Given the description of an element on the screen output the (x, y) to click on. 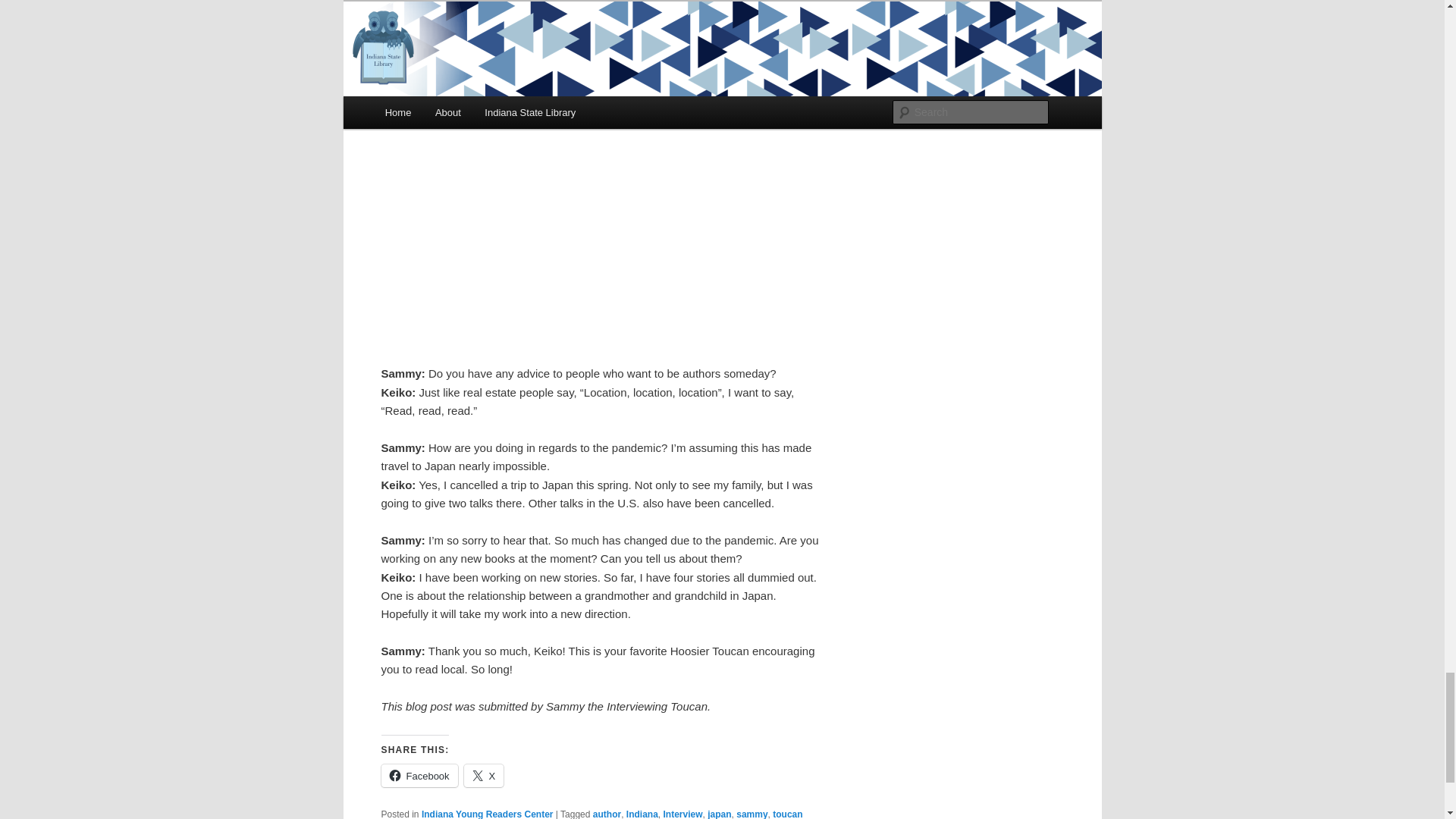
Click to share on Facebook (418, 775)
Indiana (642, 814)
japan (718, 814)
author (606, 814)
Interview (681, 814)
X (483, 775)
Facebook (418, 775)
Click to share on X (483, 775)
sammy (751, 814)
Indiana Young Readers Center (487, 814)
